Given the description of an element on the screen output the (x, y) to click on. 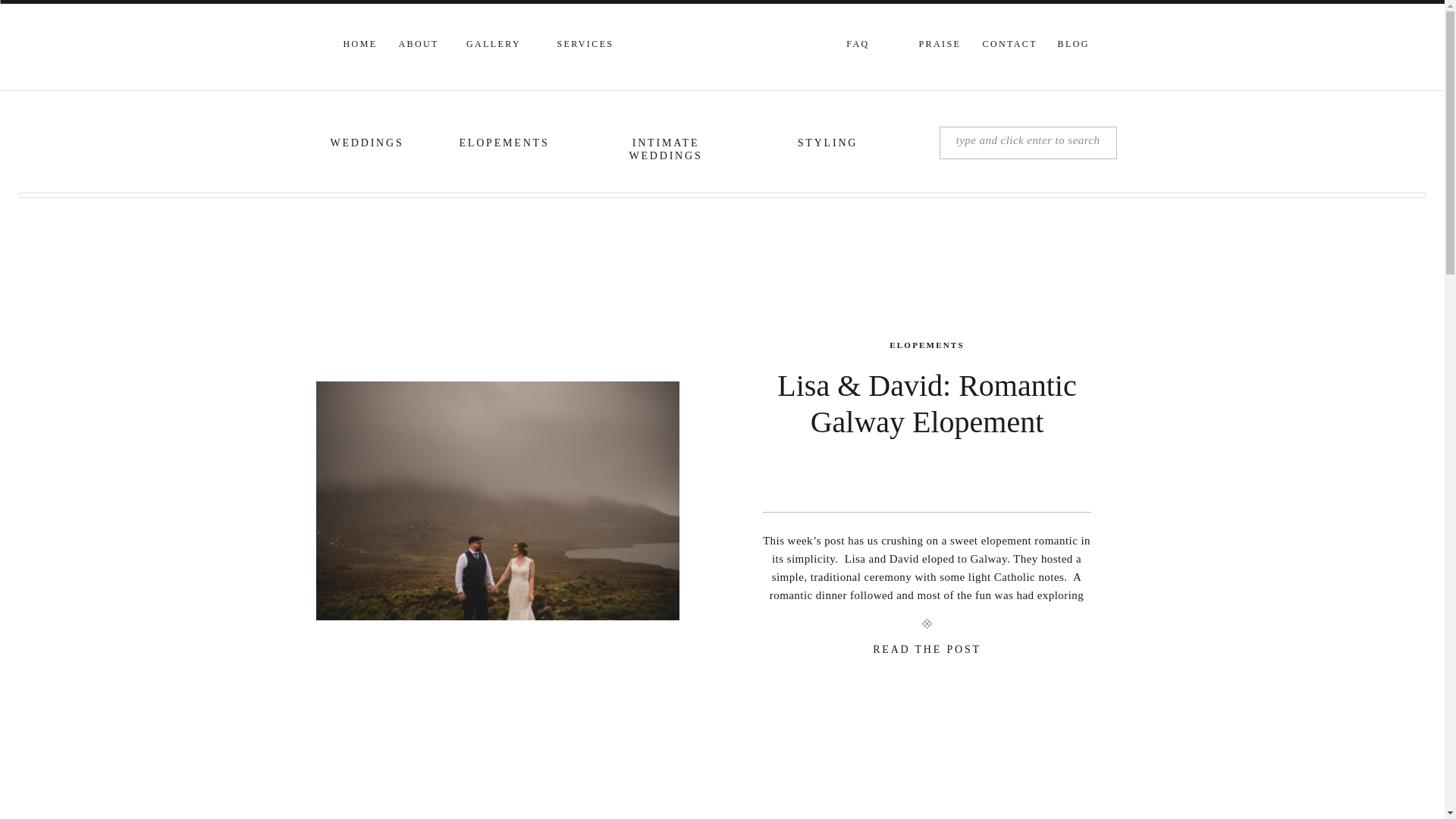
READ THE POST (926, 653)
WEDDINGS (367, 145)
SERVICES (585, 45)
BLOG (1073, 45)
ELOPEMENTS (504, 145)
GALLERY (494, 45)
HOME (358, 45)
FAQ (858, 45)
INTIMATE WEDDINGS (664, 145)
ELOPEMENTS (926, 344)
